Given the description of an element on the screen output the (x, y) to click on. 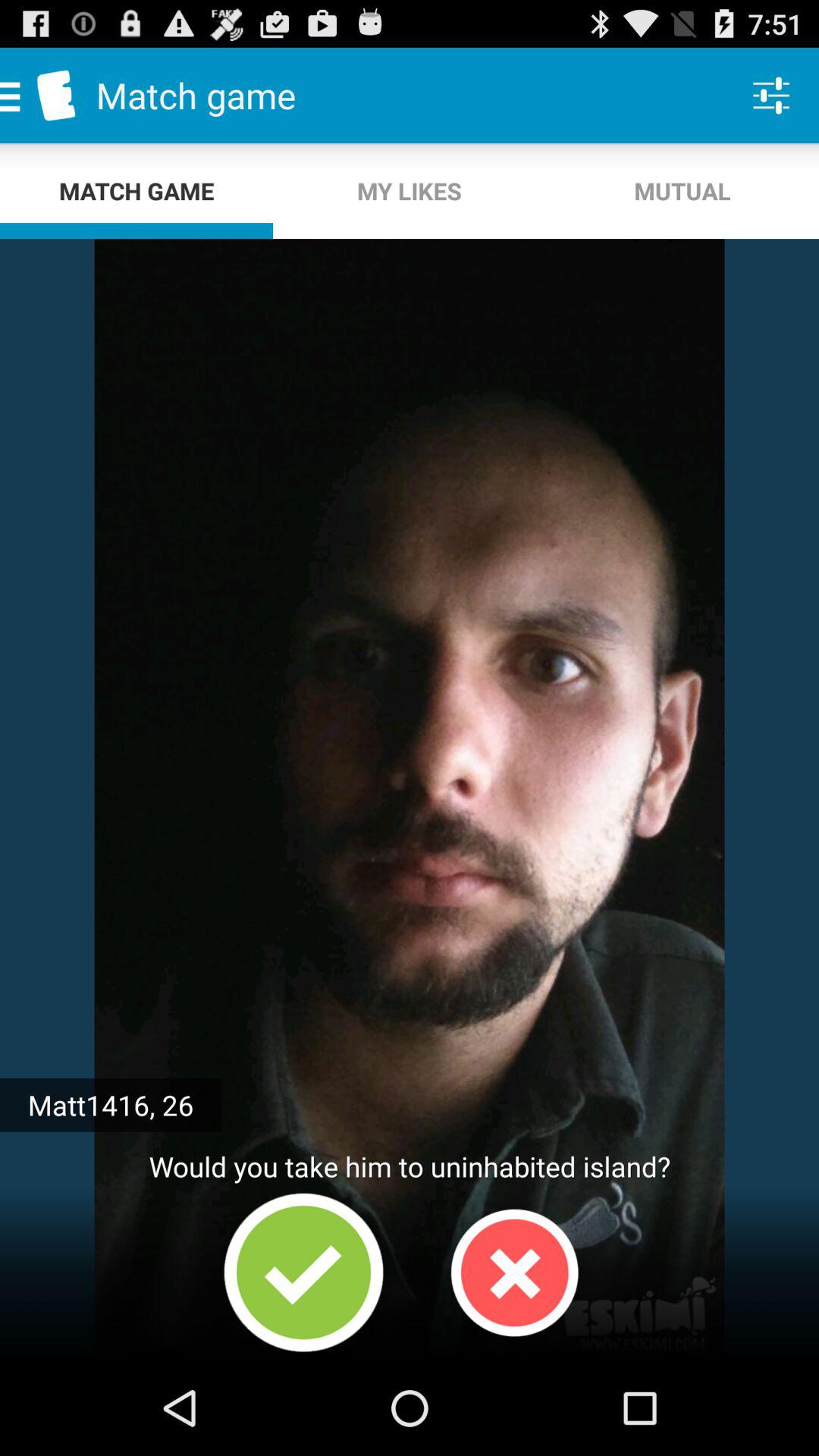
save option (303, 1272)
